Given the description of an element on the screen output the (x, y) to click on. 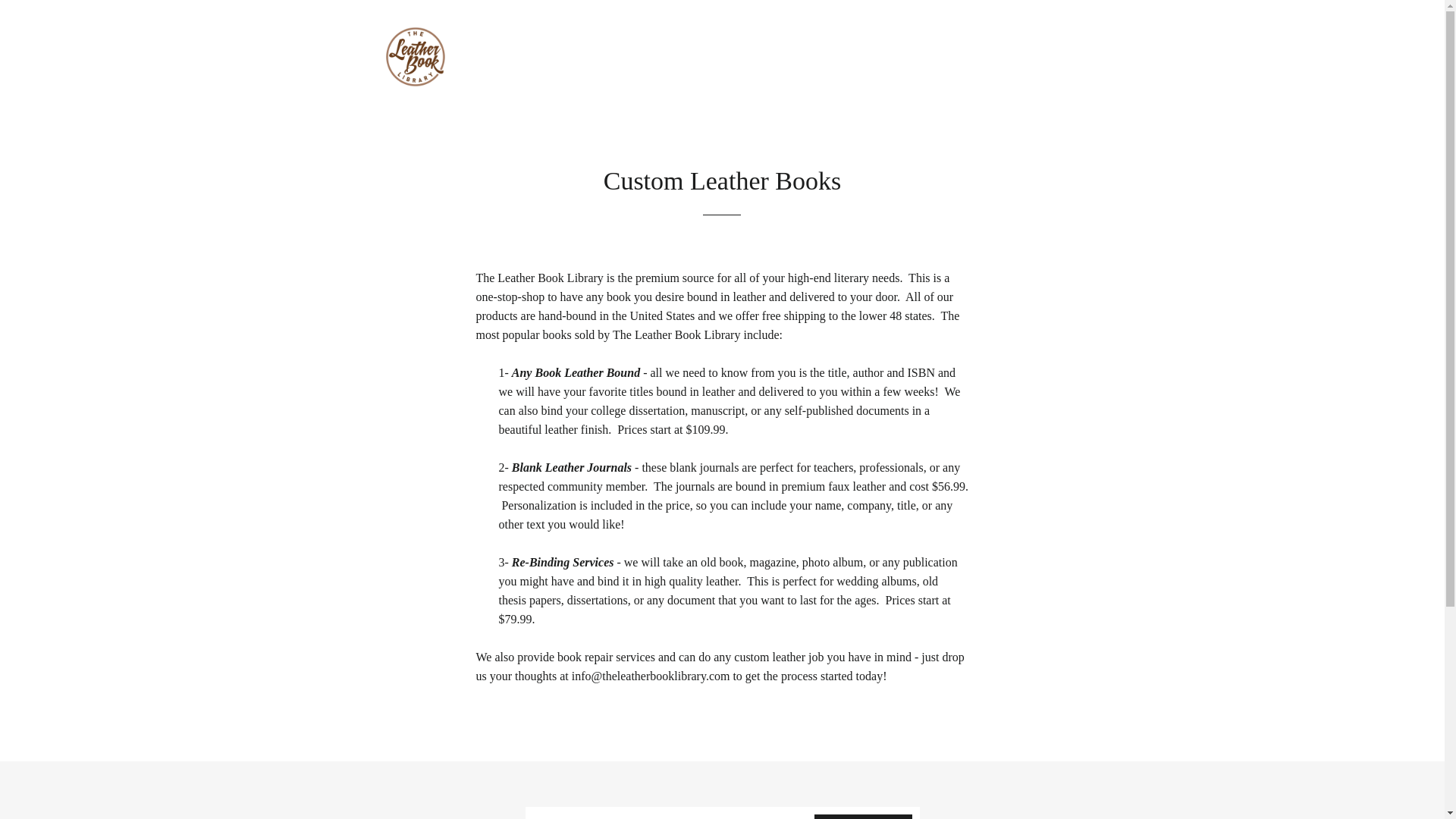
SUBSCRIBE (862, 816)
